Given the description of an element on the screen output the (x, y) to click on. 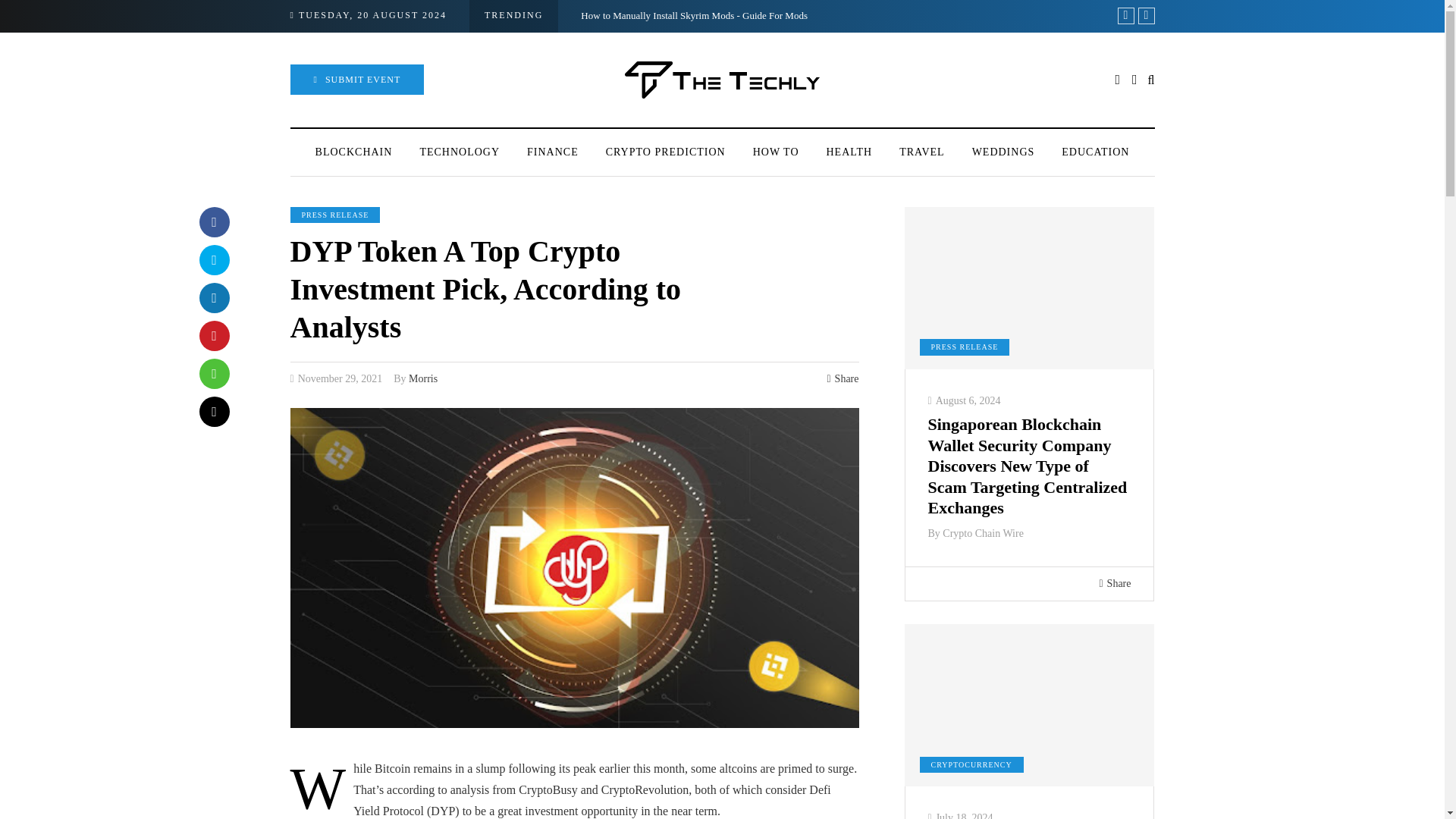
Share to WhatsApp (213, 373)
BLOCKCHAIN (353, 152)
TRAVEL (921, 152)
PRESS RELEASE (334, 215)
WEDDINGS (1003, 152)
Posts by Morris (423, 378)
TECHNOLOGY (459, 152)
HOW TO (775, 152)
Morris (423, 378)
Share with LinkedIn (213, 297)
